Given the description of an element on the screen output the (x, y) to click on. 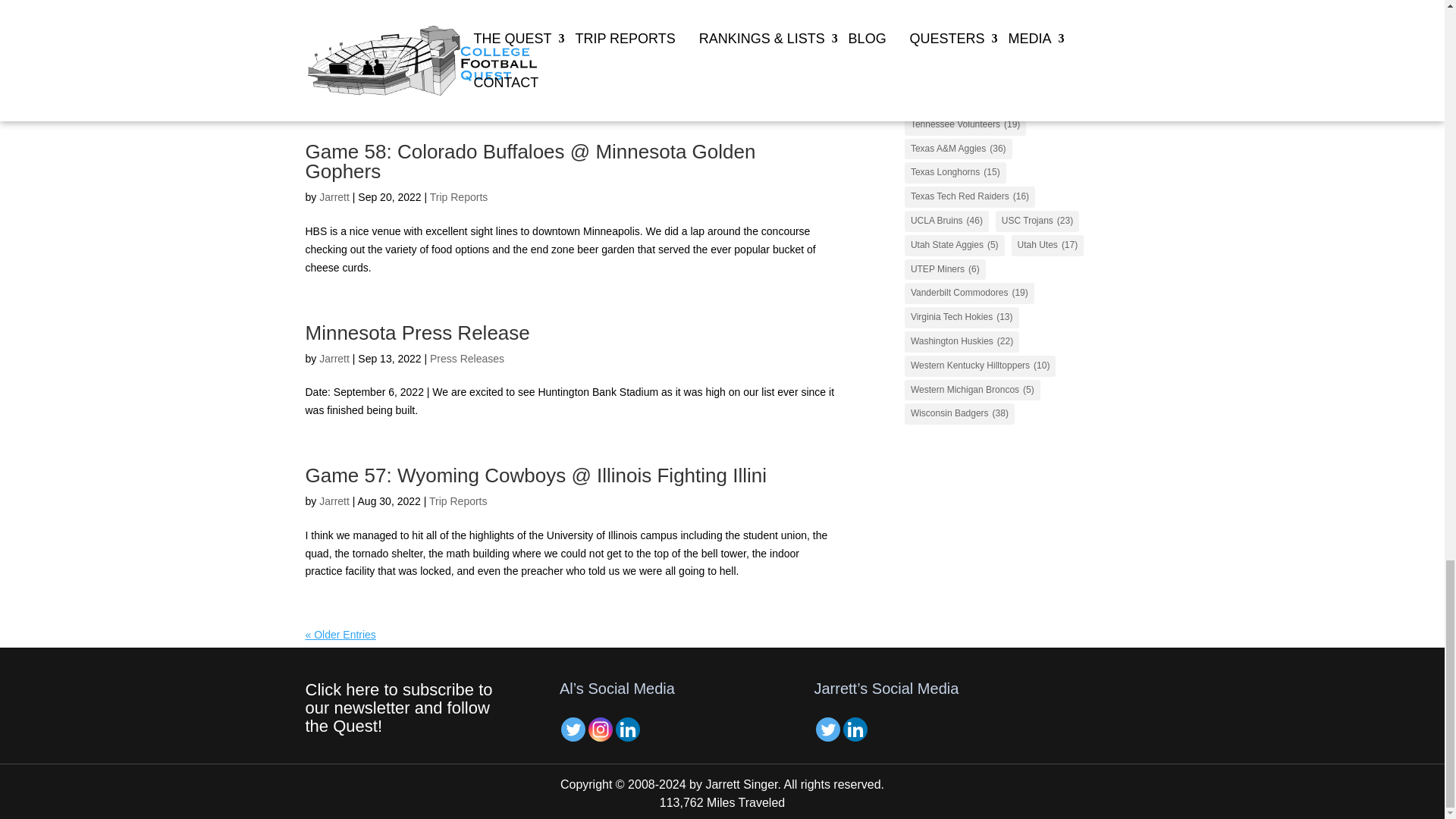
Posts by Jarrett (333, 34)
Posts by Jarrett (333, 196)
Posts by Jarrett (333, 500)
Twitter (572, 729)
Posts by Jarrett (333, 358)
